Given the description of an element on the screen output the (x, y) to click on. 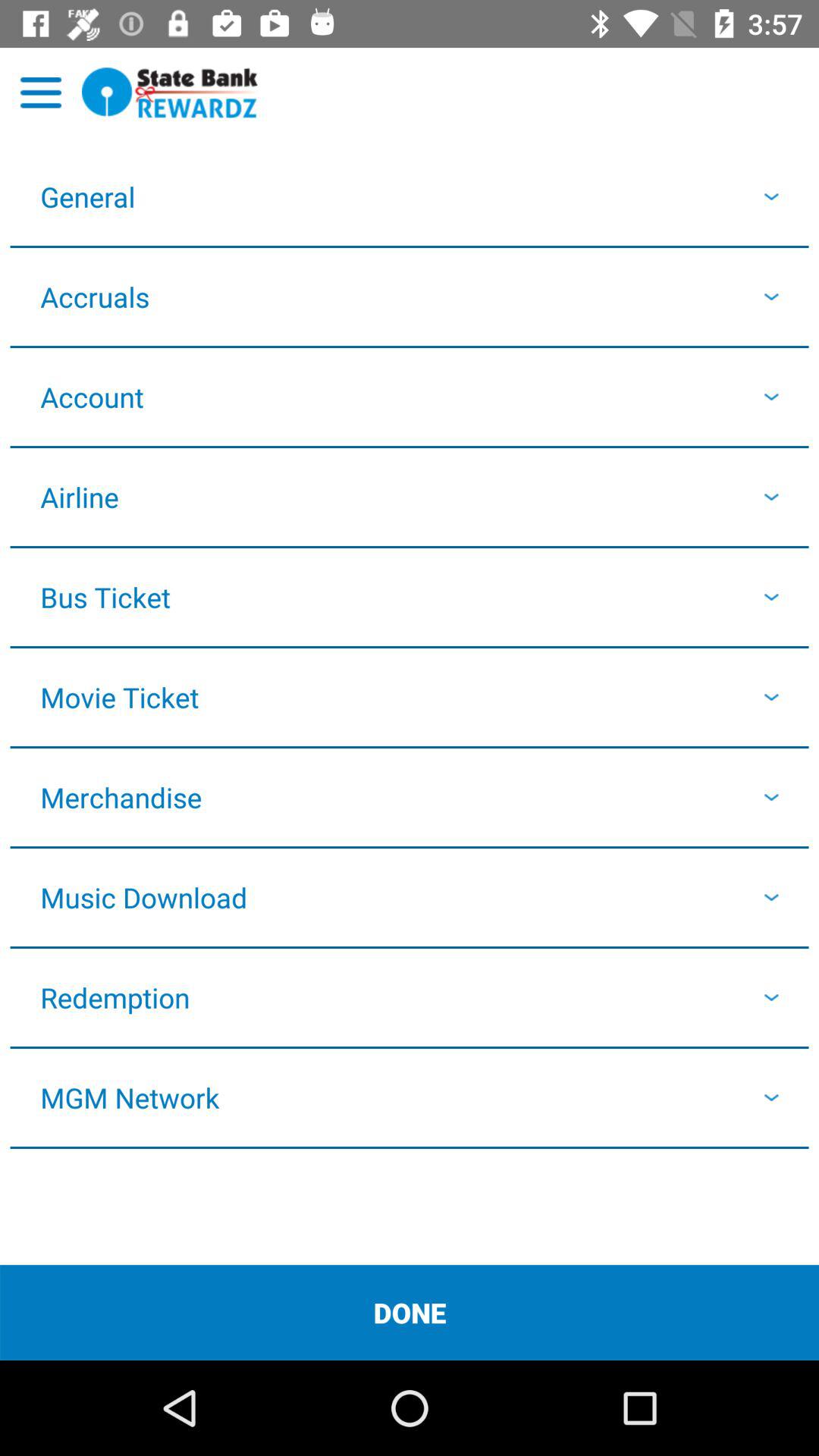
options (40, 92)
